Given the description of an element on the screen output the (x, y) to click on. 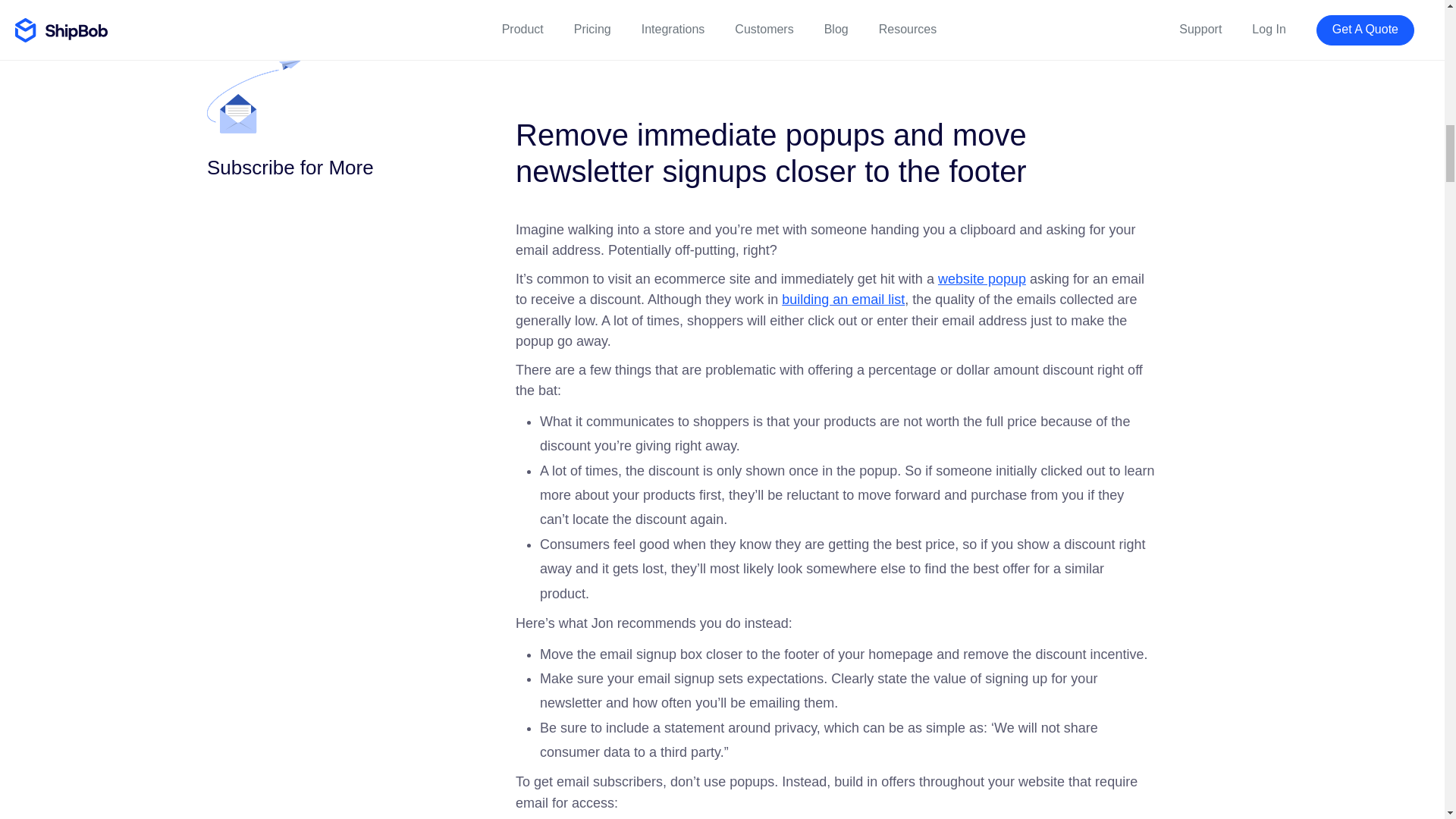
Live BFCM Website Teardowns with Jon MacDonald of The Good (835, 31)
